Given the description of an element on the screen output the (x, y) to click on. 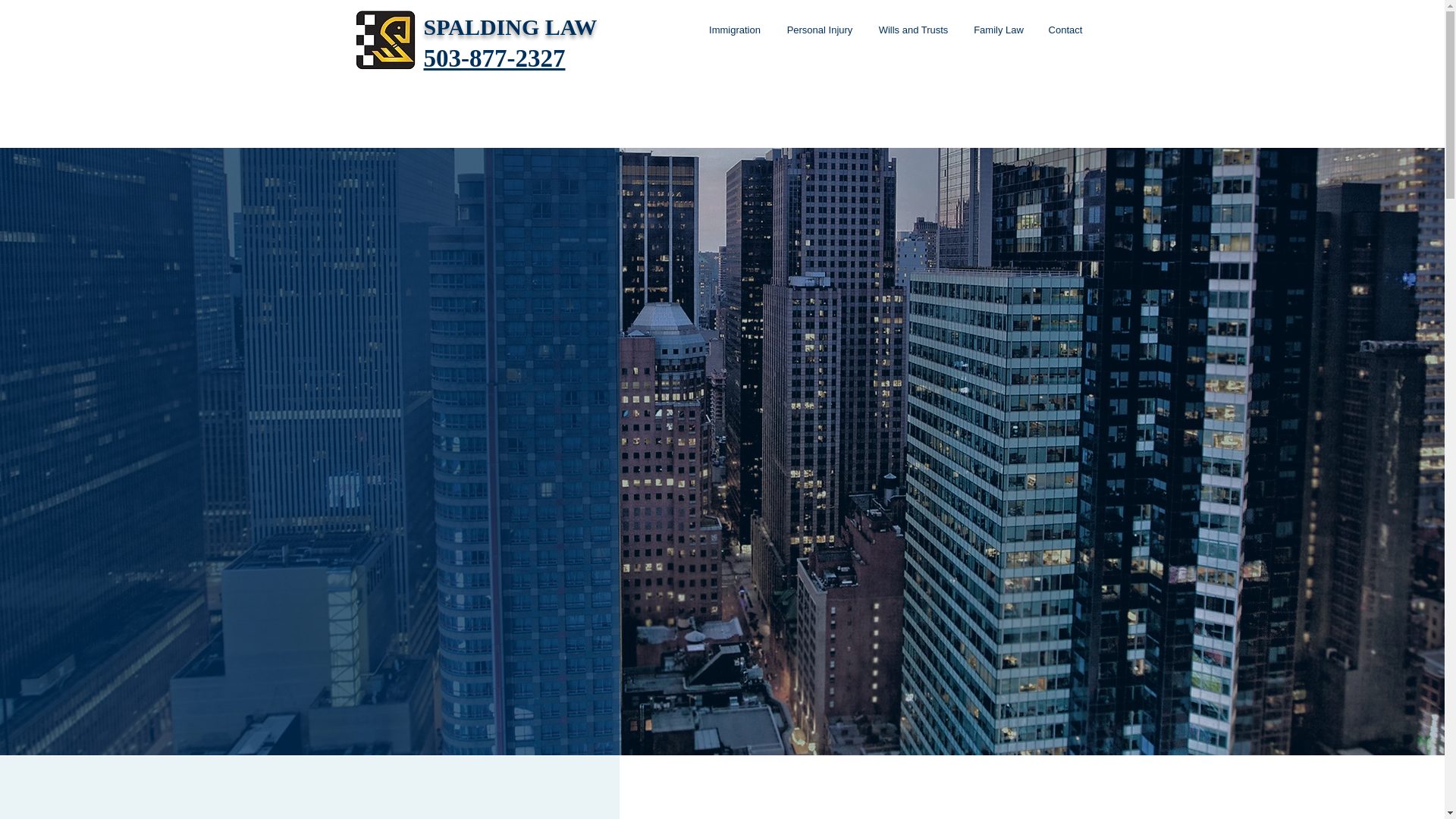
Family Law (998, 29)
503-877-2327 (493, 58)
logo - Copy.png (384, 39)
Personal Injury (818, 29)
Immigration (734, 29)
Wills and Trusts (913, 29)
Contact (1064, 29)
